Given the description of an element on the screen output the (x, y) to click on. 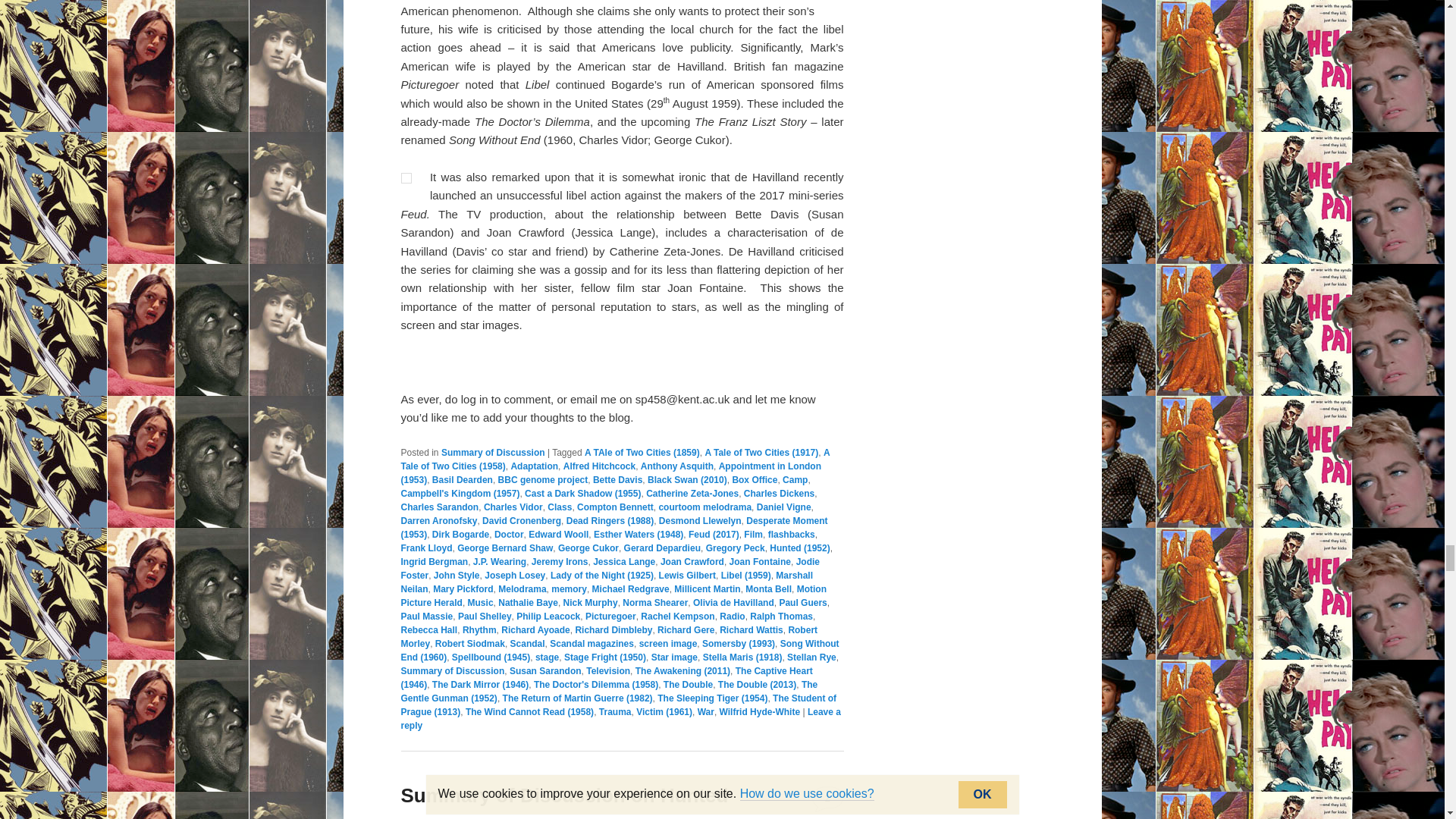
7:53 am (480, 818)
